Given the description of an element on the screen output the (x, y) to click on. 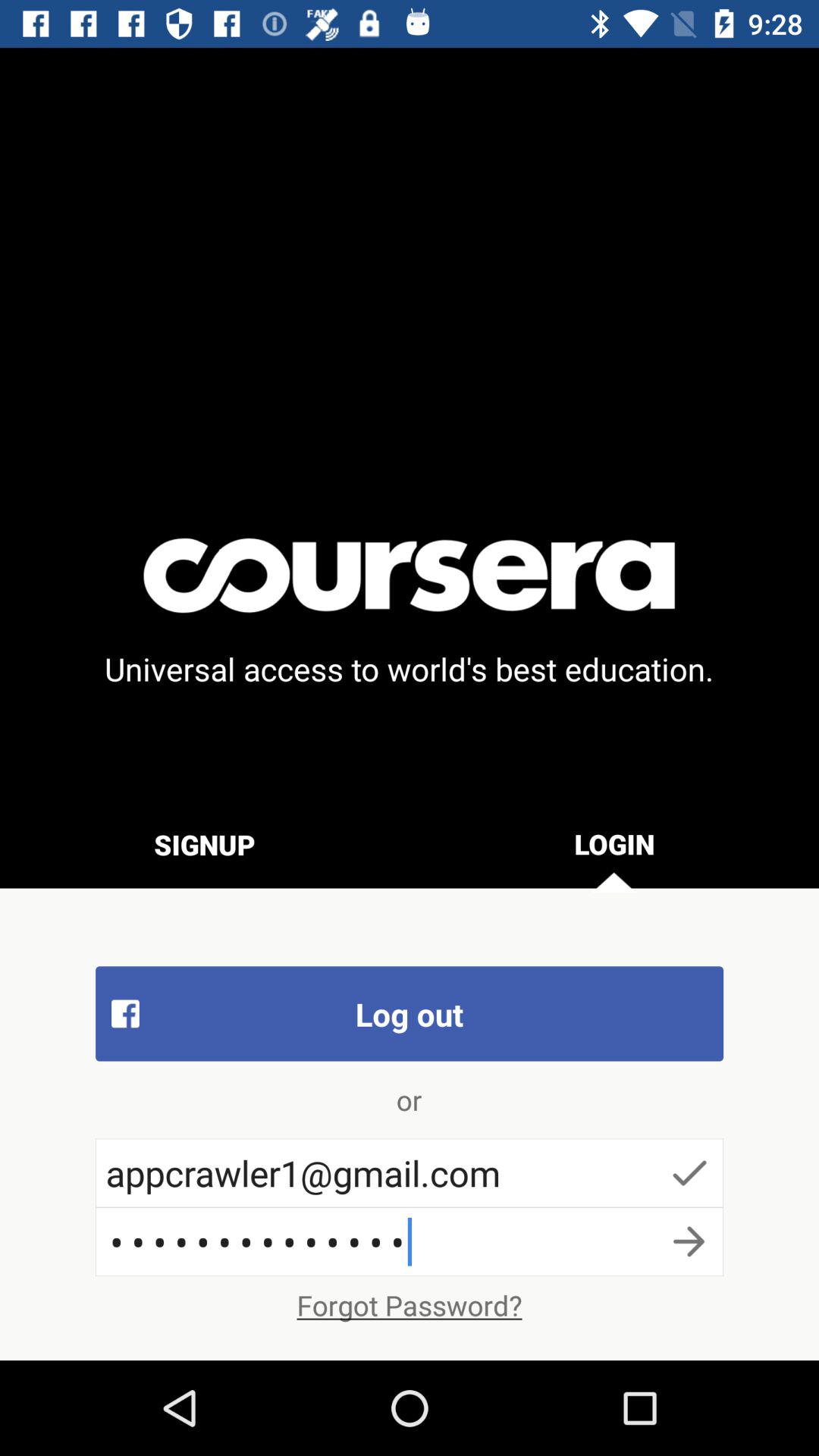
tap icon above the forgot password? item (409, 1241)
